Given the description of an element on the screen output the (x, y) to click on. 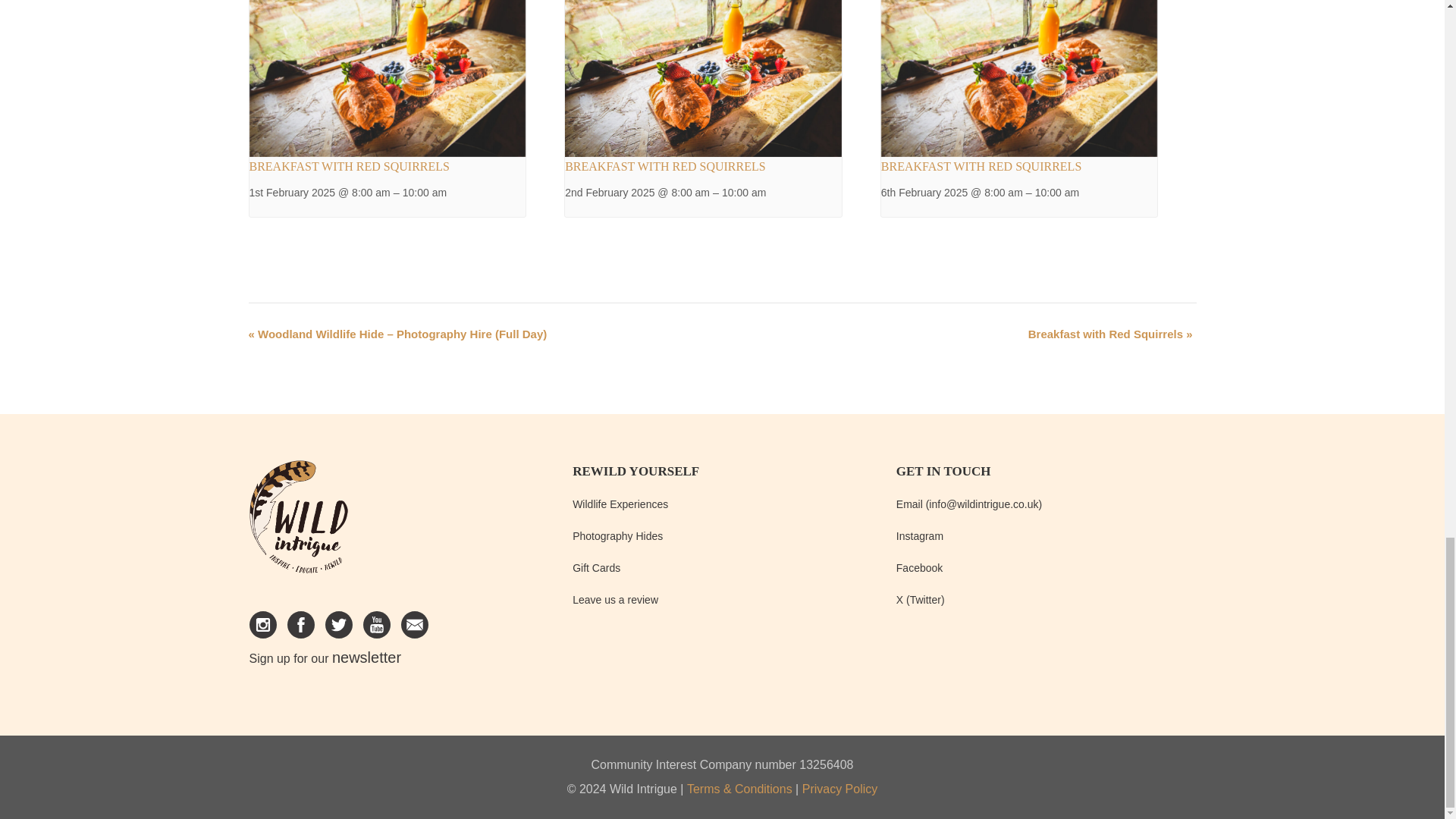
BREAKFAST WITH RED SQUIRRELS (348, 165)
home (297, 522)
BREAKFAST WITH RED SQUIRRELS (980, 165)
BREAKFAST WITH RED SQUIRRELS (664, 165)
